Given the description of an element on the screen output the (x, y) to click on. 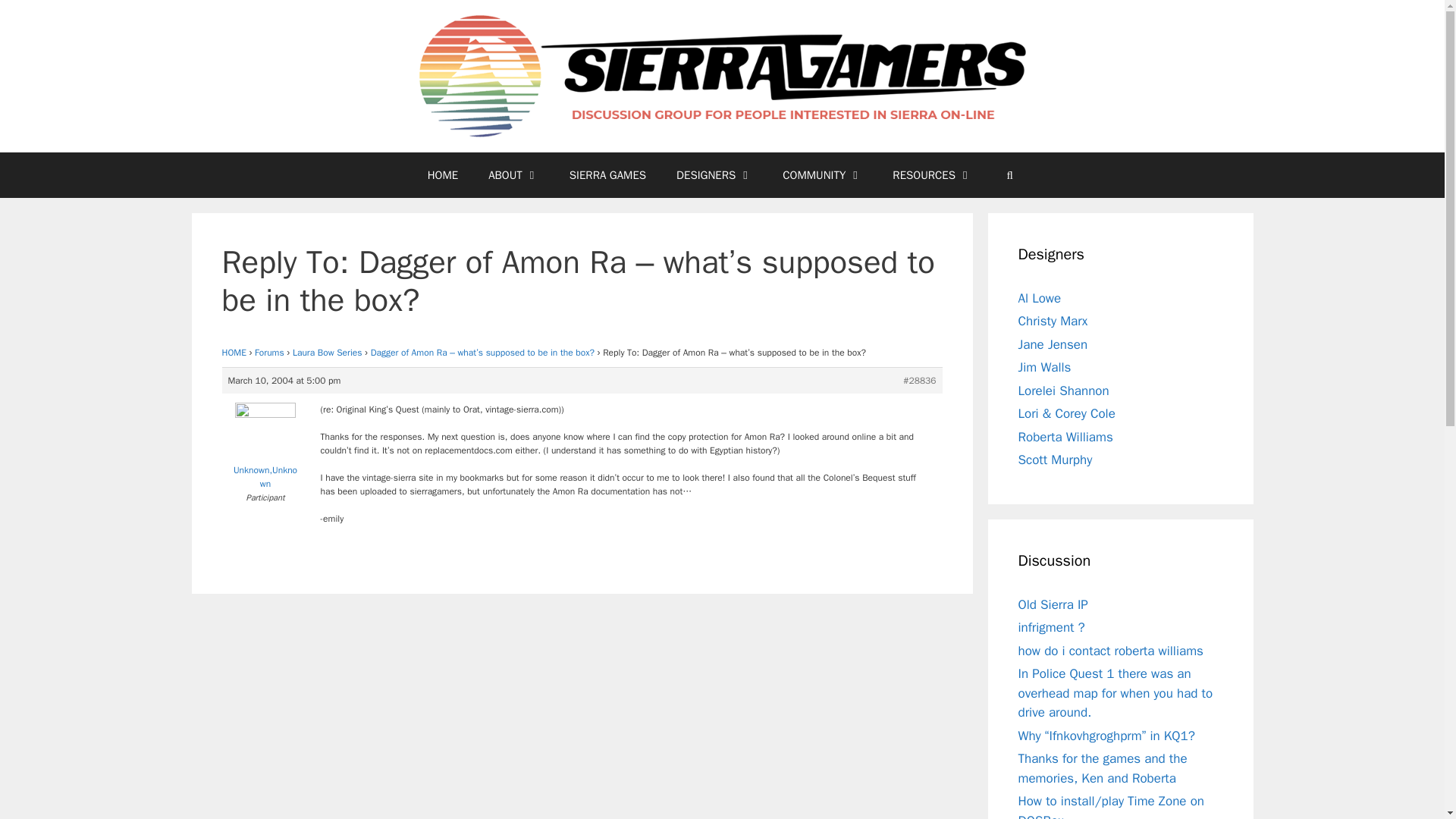
View Unknown,Unknown's profile (264, 449)
SIERRA GAMES (607, 175)
HOME (233, 352)
Forums (268, 352)
DESIGNERS (714, 175)
RESOURCES (932, 175)
Al Lowe (1039, 298)
Laura Bow Series (327, 352)
COMMUNITY (822, 175)
Christy Marx (1052, 320)
